Given the description of an element on the screen output the (x, y) to click on. 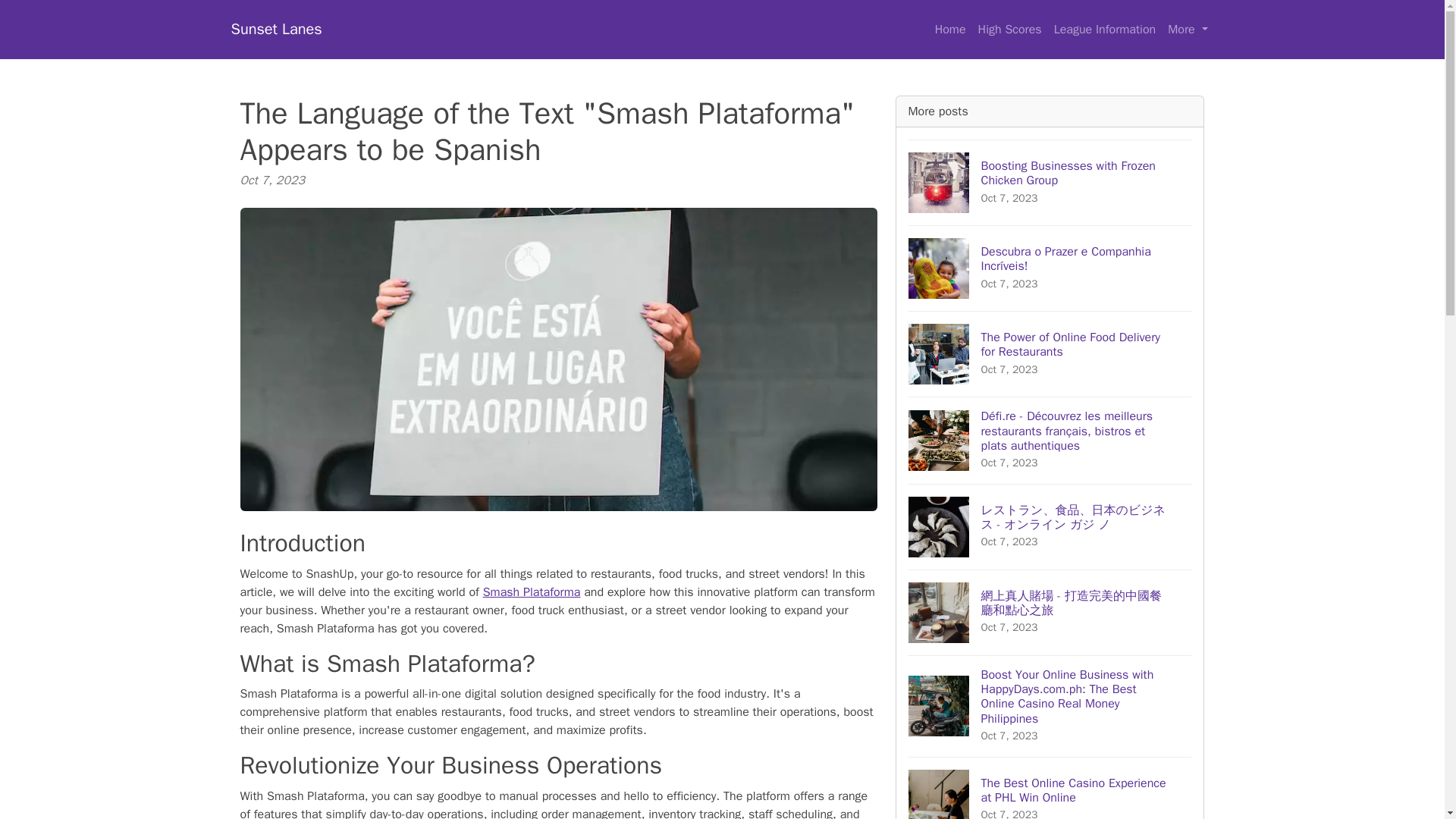
Smash Plataforma (531, 591)
Home (950, 29)
Sunset Lanes (275, 29)
More (1186, 29)
League Information (1050, 182)
High Scores (1104, 29)
